Given the description of an element on the screen output the (x, y) to click on. 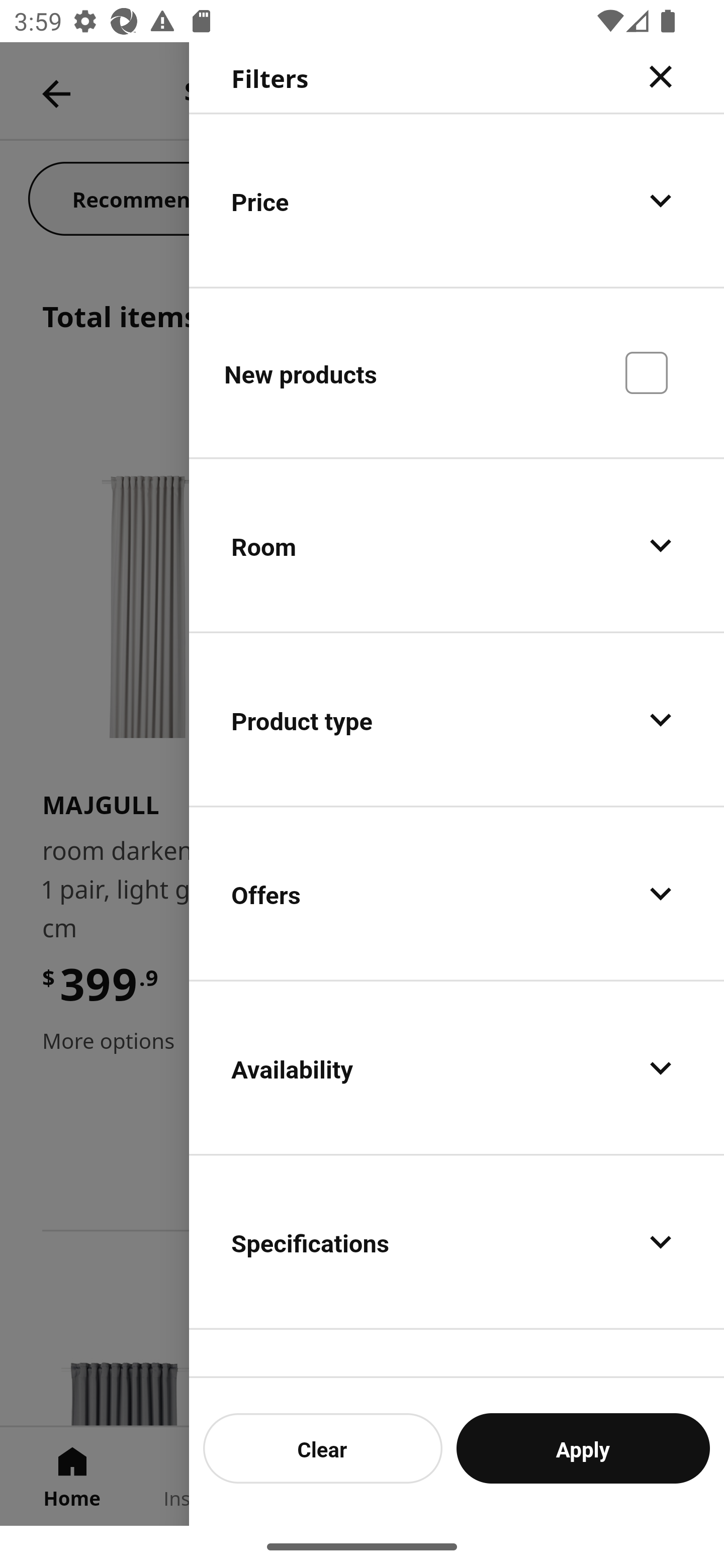
Price (456, 200)
New products (456, 371)
Room (456, 545)
Product type (456, 719)
Offers (456, 893)
Availability (456, 1067)
Specifications (456, 1241)
Clear (322, 1447)
Apply (583, 1447)
